Given the description of an element on the screen output the (x, y) to click on. 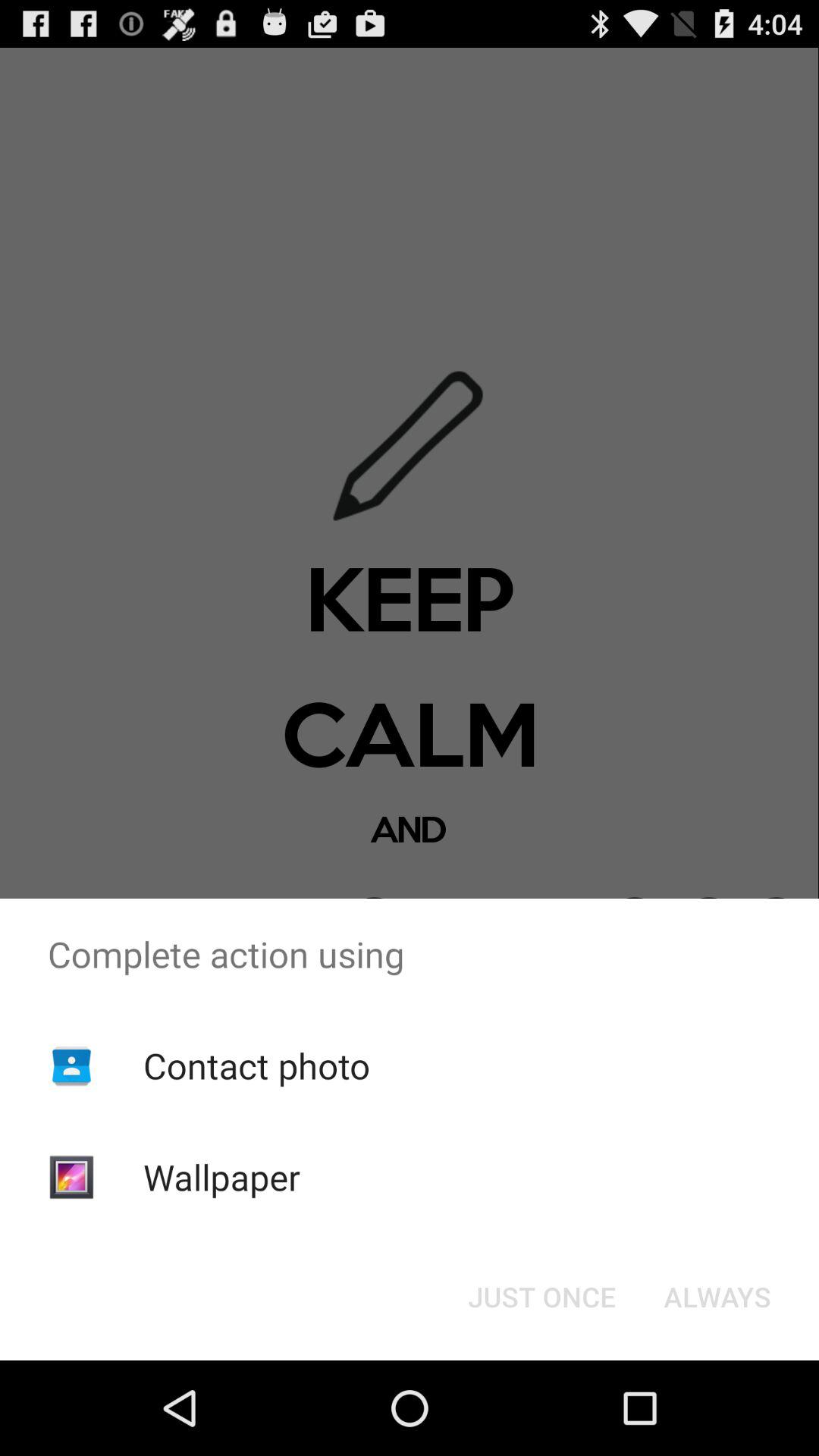
tap contact photo item (256, 1065)
